Given the description of an element on the screen output the (x, y) to click on. 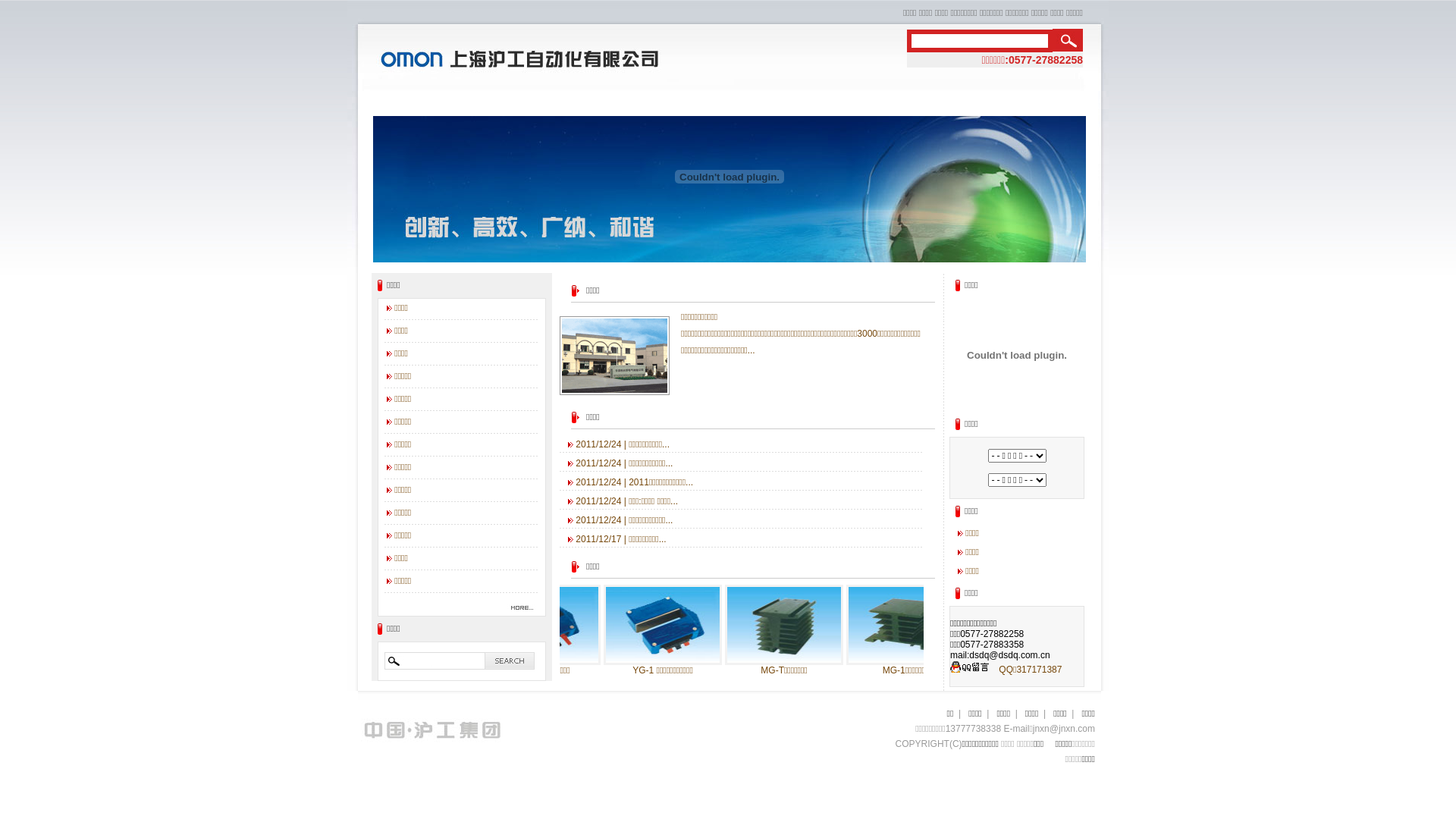
  Element type: text (1067, 39)
  Element type: text (510, 660)
